Given the description of an element on the screen output the (x, y) to click on. 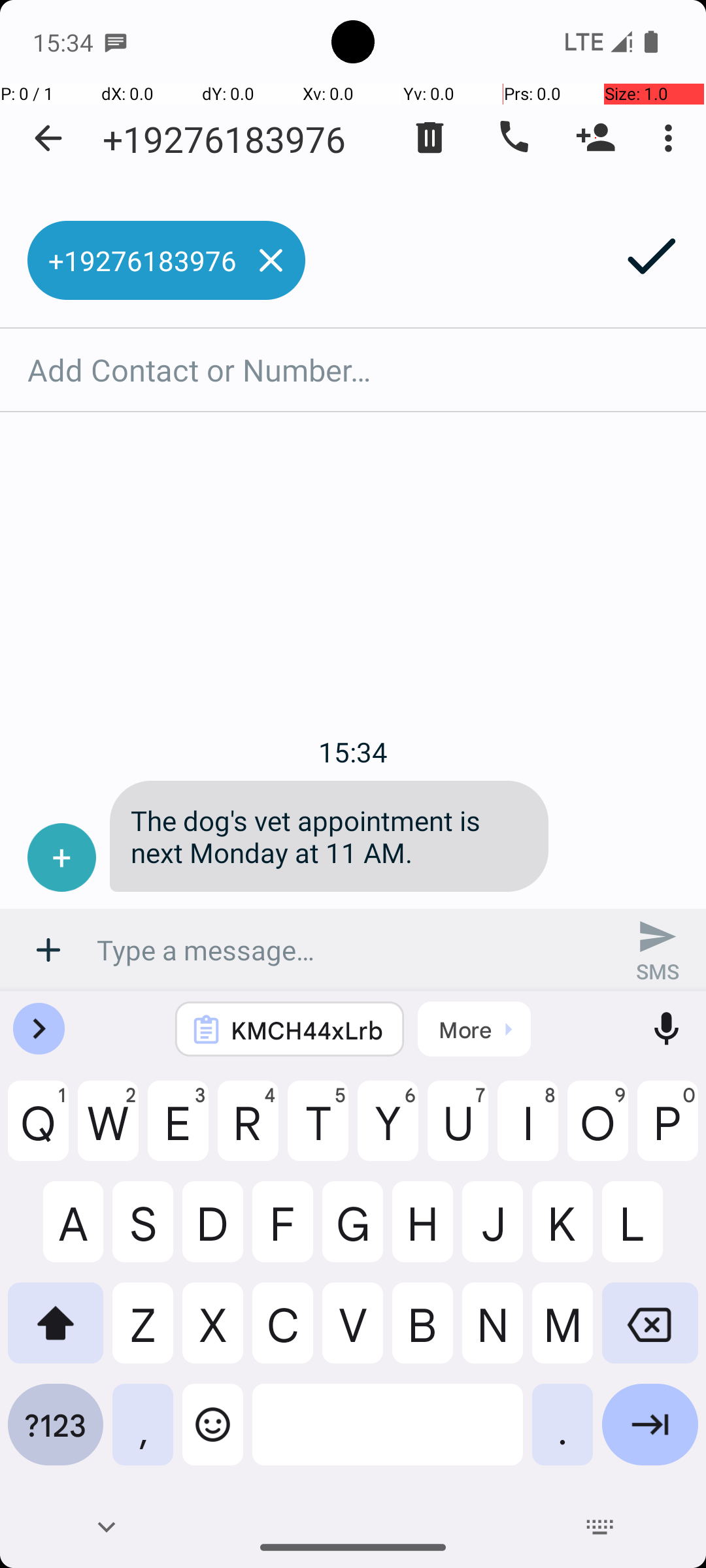
+19276183976 Element type: android.widget.TextView (223, 138)
Dial number Element type: android.widget.Button (512, 137)
Add Person Element type: android.widget.Button (595, 137)
Add Contact or Number… Element type: android.widget.AutoCompleteTextView (352, 369)
Attachment Element type: android.widget.ImageView (48, 949)
Type a message… Element type: android.widget.EditText (352, 949)
SMS Element type: android.widget.Button (657, 949)
The dog's vet appointment is next Monday at 11 AM. Element type: android.widget.TextView (328, 835)
KMCH44xLrb Element type: android.widget.TextView (306, 1029)
